Given the description of an element on the screen output the (x, y) to click on. 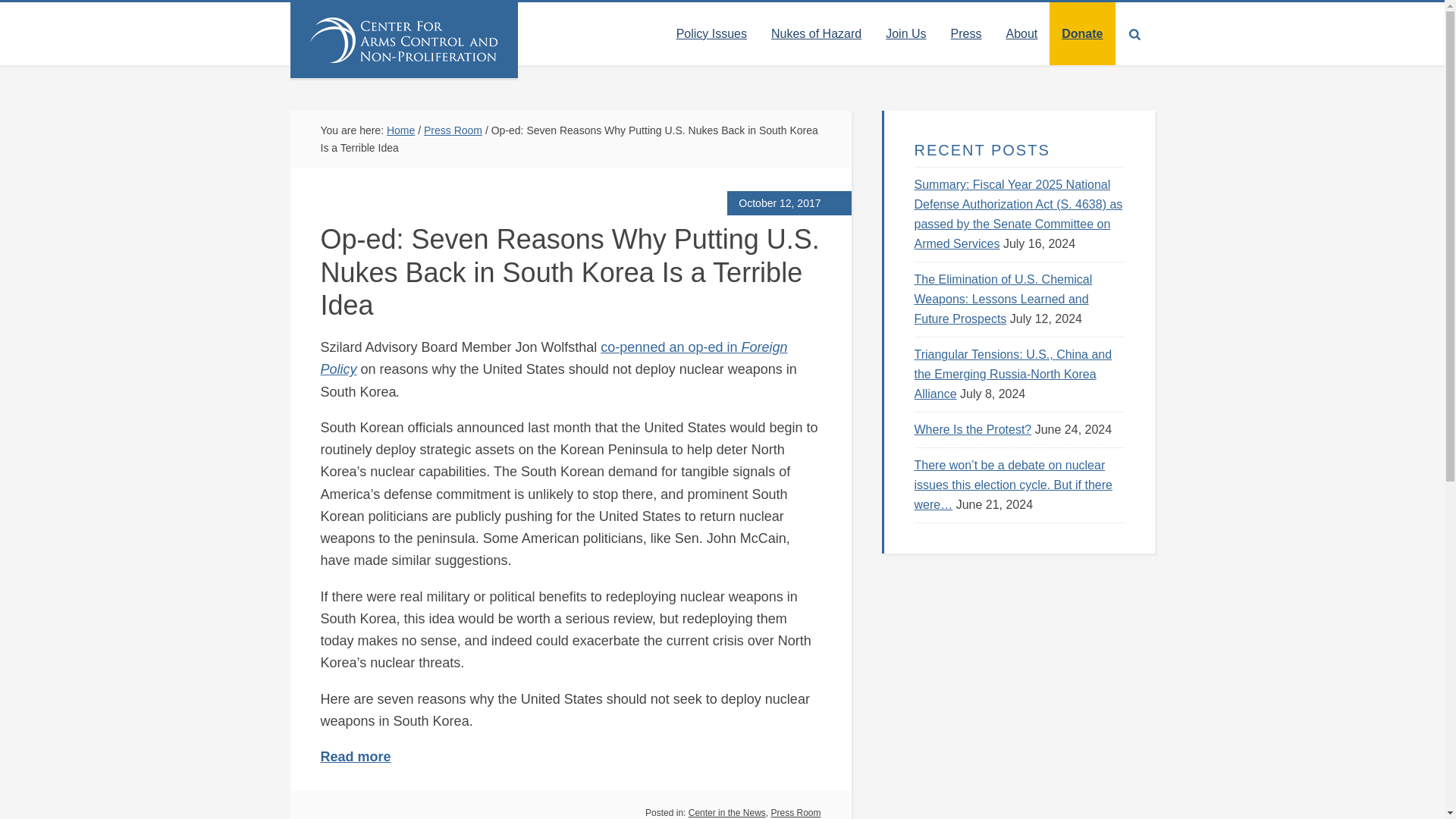
Read more (355, 756)
Donate (1082, 33)
CENTER FOR ARMS CONTROL AND NON-PROLIFERATION (402, 39)
Press Room (795, 812)
Nukes of Hazard (815, 33)
Center in the News (726, 812)
Press Room (452, 130)
